Given the description of an element on the screen output the (x, y) to click on. 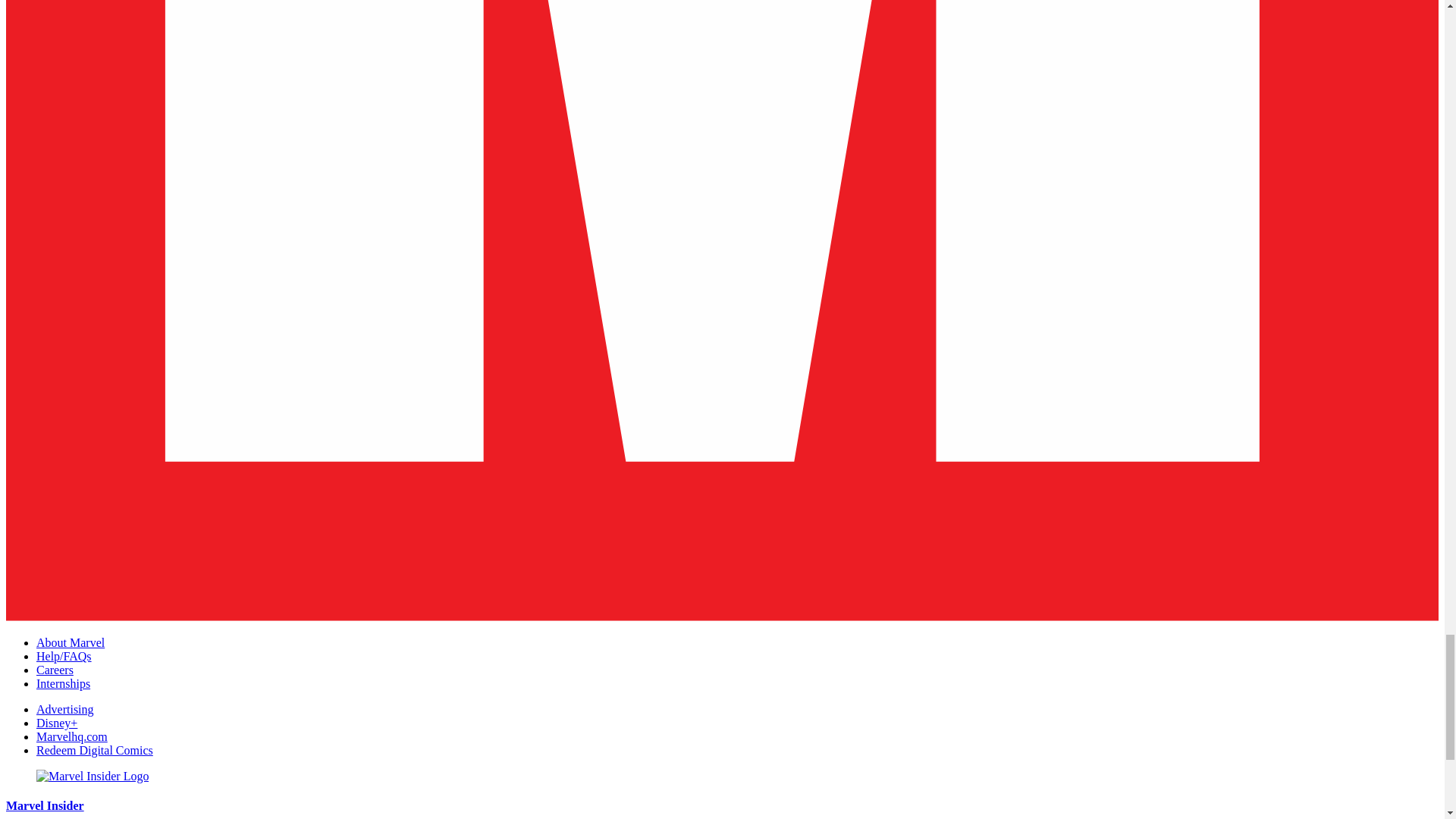
Advertising (65, 708)
Internships (63, 683)
Careers (55, 669)
Marvelhq.com (71, 736)
Redeem Digital Comics (94, 749)
About Marvel (70, 642)
